Given the description of an element on the screen output the (x, y) to click on. 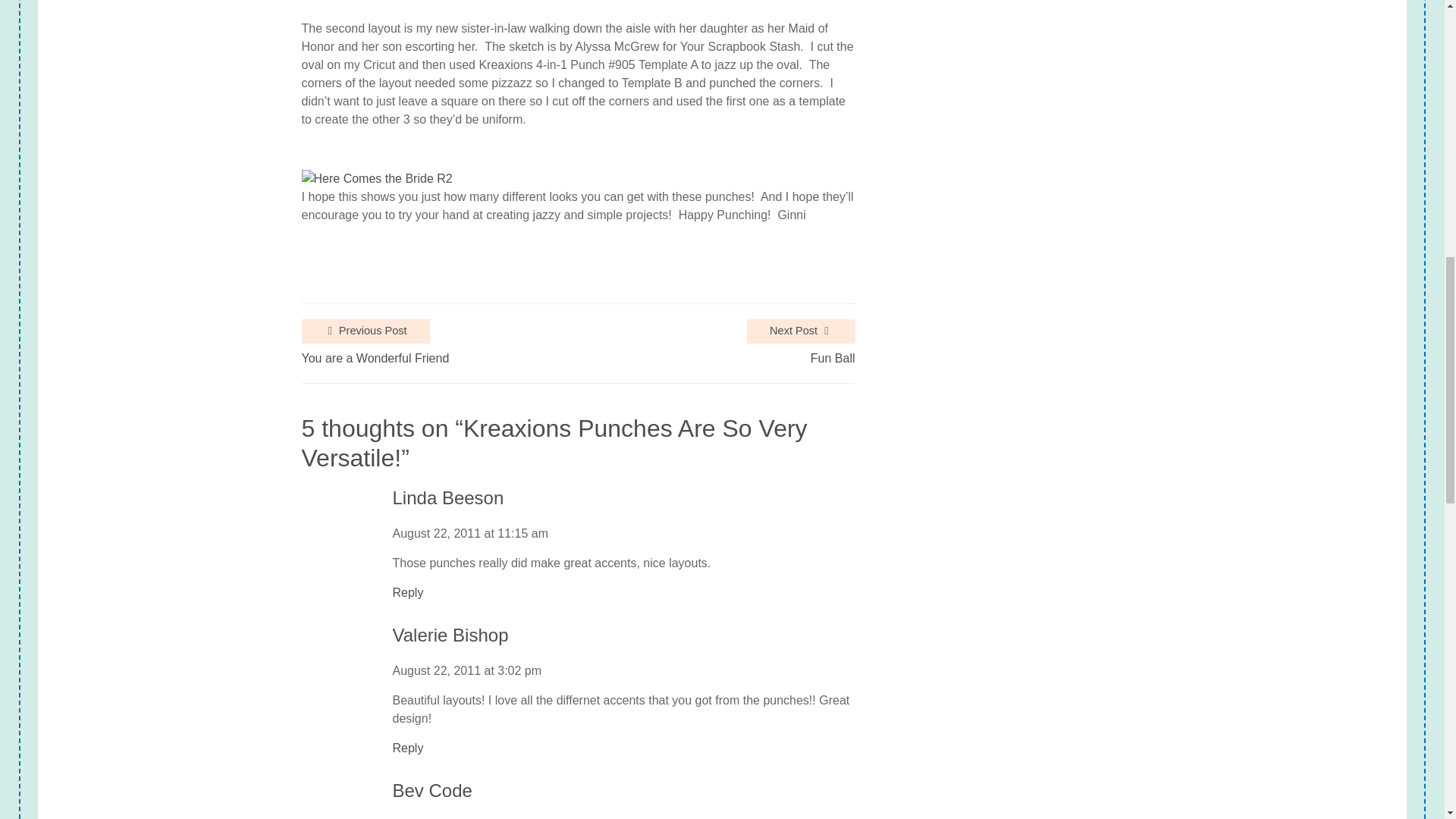
Reply (408, 748)
Previous Post (365, 331)
Bev Code (432, 791)
Linda Beeson (448, 498)
Next Post (800, 331)
Reply (408, 592)
Here Comes the Bride R2 (376, 178)
You are a Wonderful Friend (375, 358)
Fun Ball (833, 358)
